Given the description of an element on the screen output the (x, y) to click on. 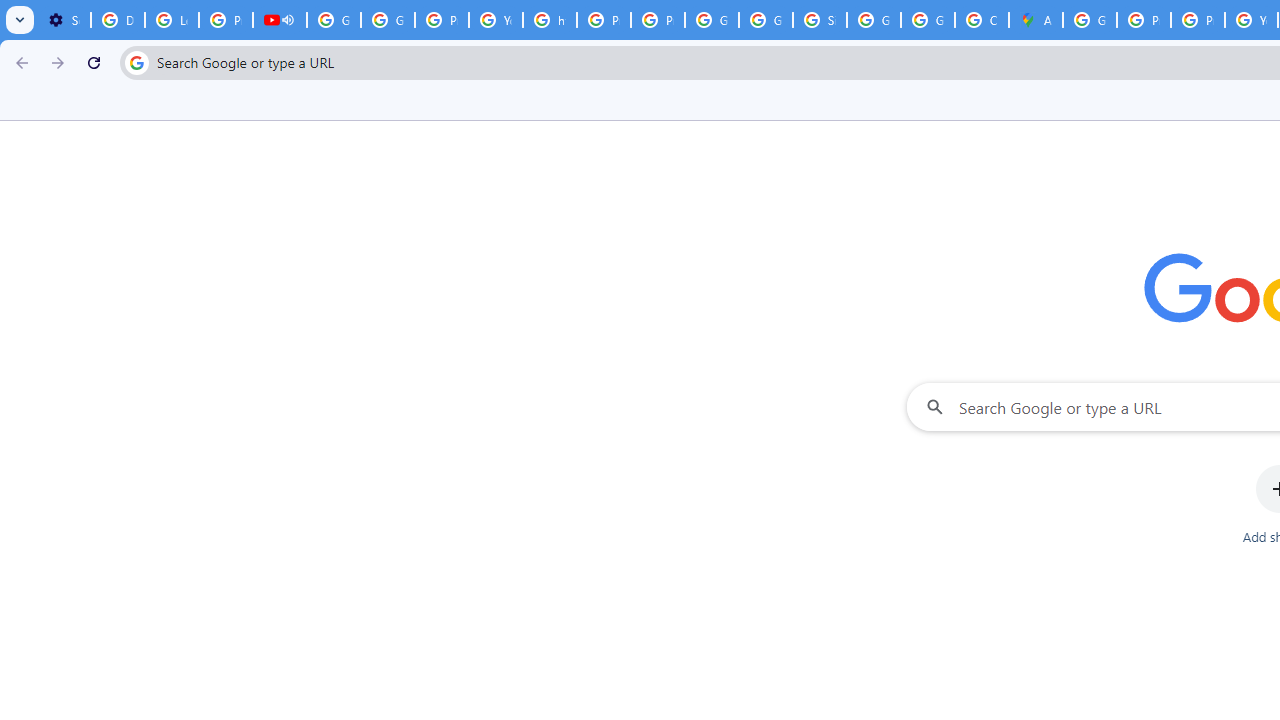
Settings - Performance (63, 20)
https://scholar.google.com/ (550, 20)
Privacy Help Center - Policies Help (1197, 20)
Sign in - Google Accounts (819, 20)
Create your Google Account (981, 20)
Delete photos & videos - Computer - Google Photos Help (117, 20)
Mute tab (287, 20)
